Given the description of an element on the screen output the (x, y) to click on. 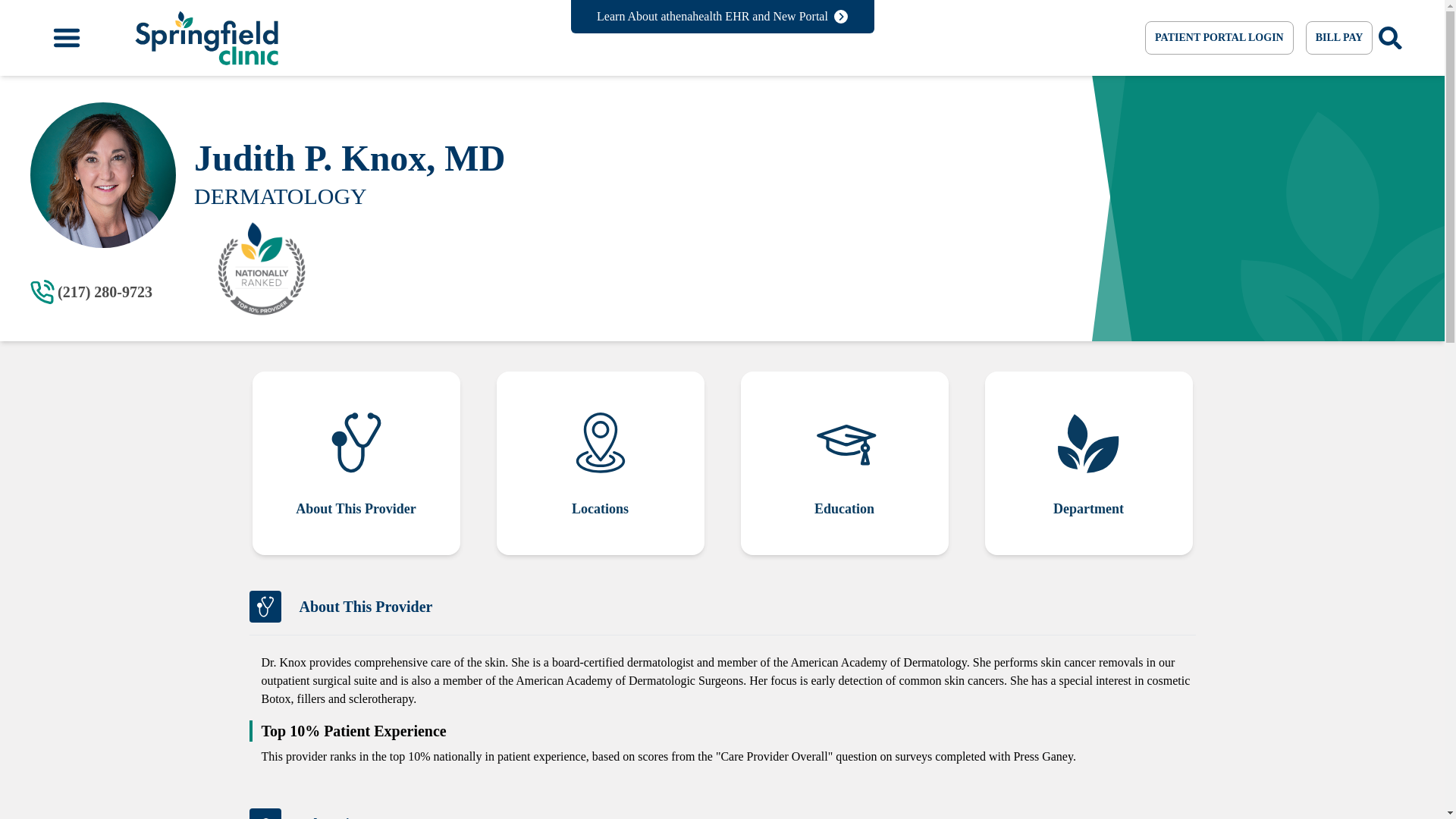
Locations (599, 463)
Department (1087, 463)
BILL PAY (1339, 37)
Locations (599, 463)
Department (1087, 463)
About This Provider (354, 463)
Education (844, 463)
About This Provider (354, 463)
Bill Pay (1339, 37)
Education (844, 463)
Patient Portal Login (1219, 37)
Learn About athenahealth EHR and New Portal (721, 16)
PATIENT PORTAL LOGIN (1219, 37)
